Given the description of an element on the screen output the (x, y) to click on. 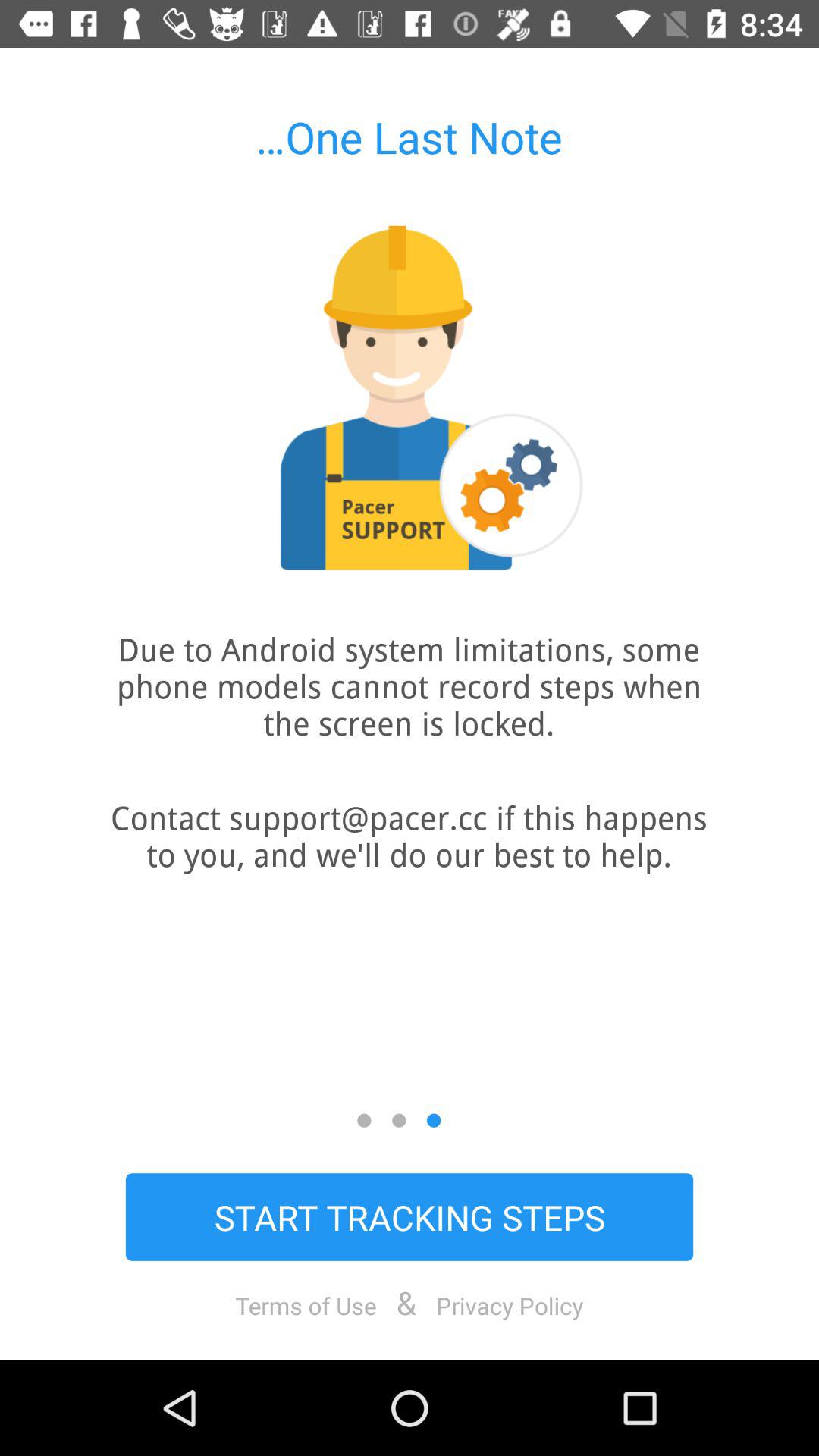
open the item to the left of & icon (305, 1305)
